Given the description of an element on the screen output the (x, y) to click on. 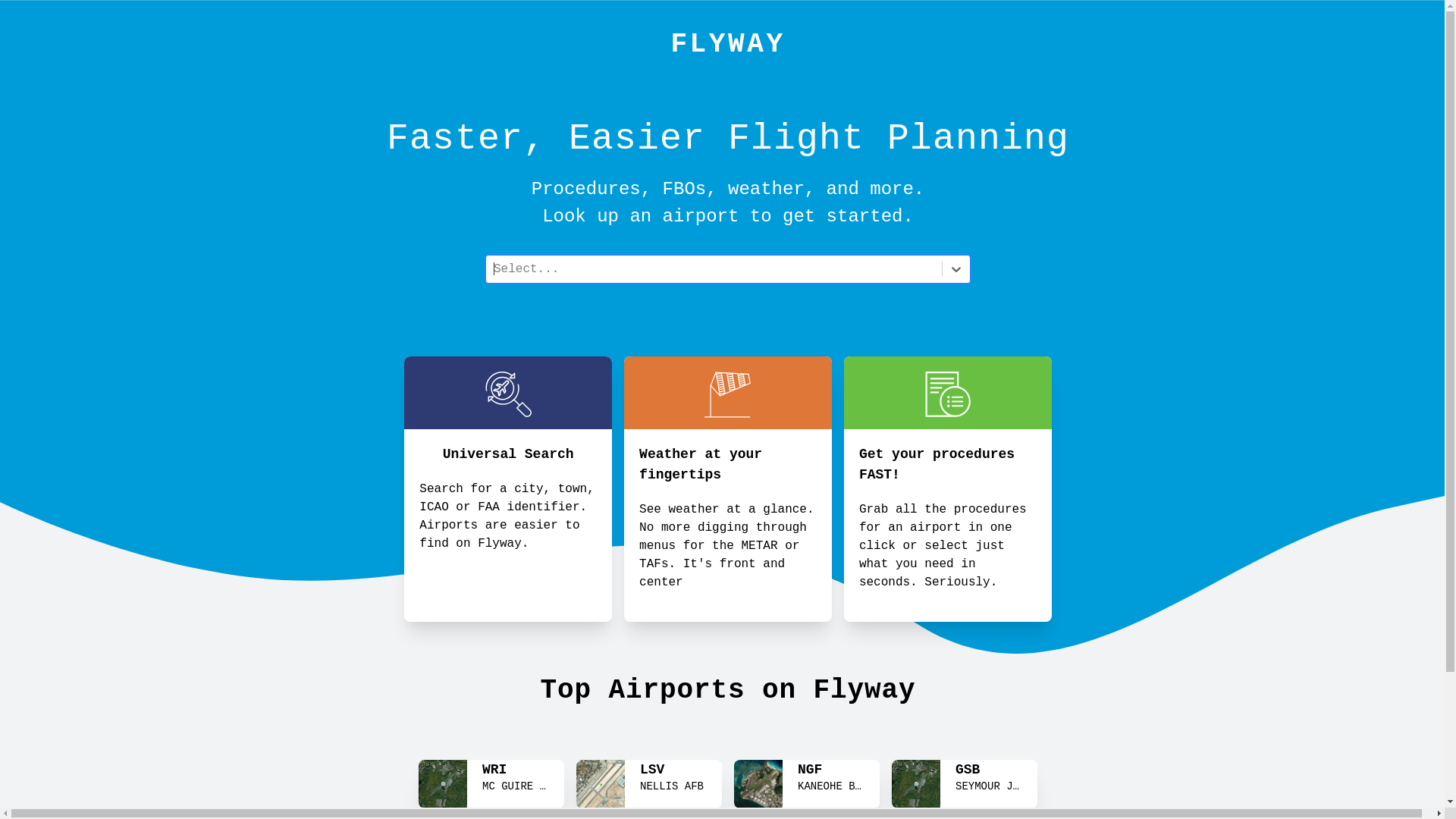
LSV
NELLIS AFB Element type: text (649, 786)
NGF
KANEOHE BAY MCAS (MARION E CARL FLD) Element type: text (806, 786)
GSB
SEYMOUR JOHNSON AFB Element type: text (964, 786)
WRI
MC GUIRE FLD (JOINT BASE MC GUIRE DIX LAKEHURST) Element type: text (491, 786)
